Given the description of an element on the screen output the (x, y) to click on. 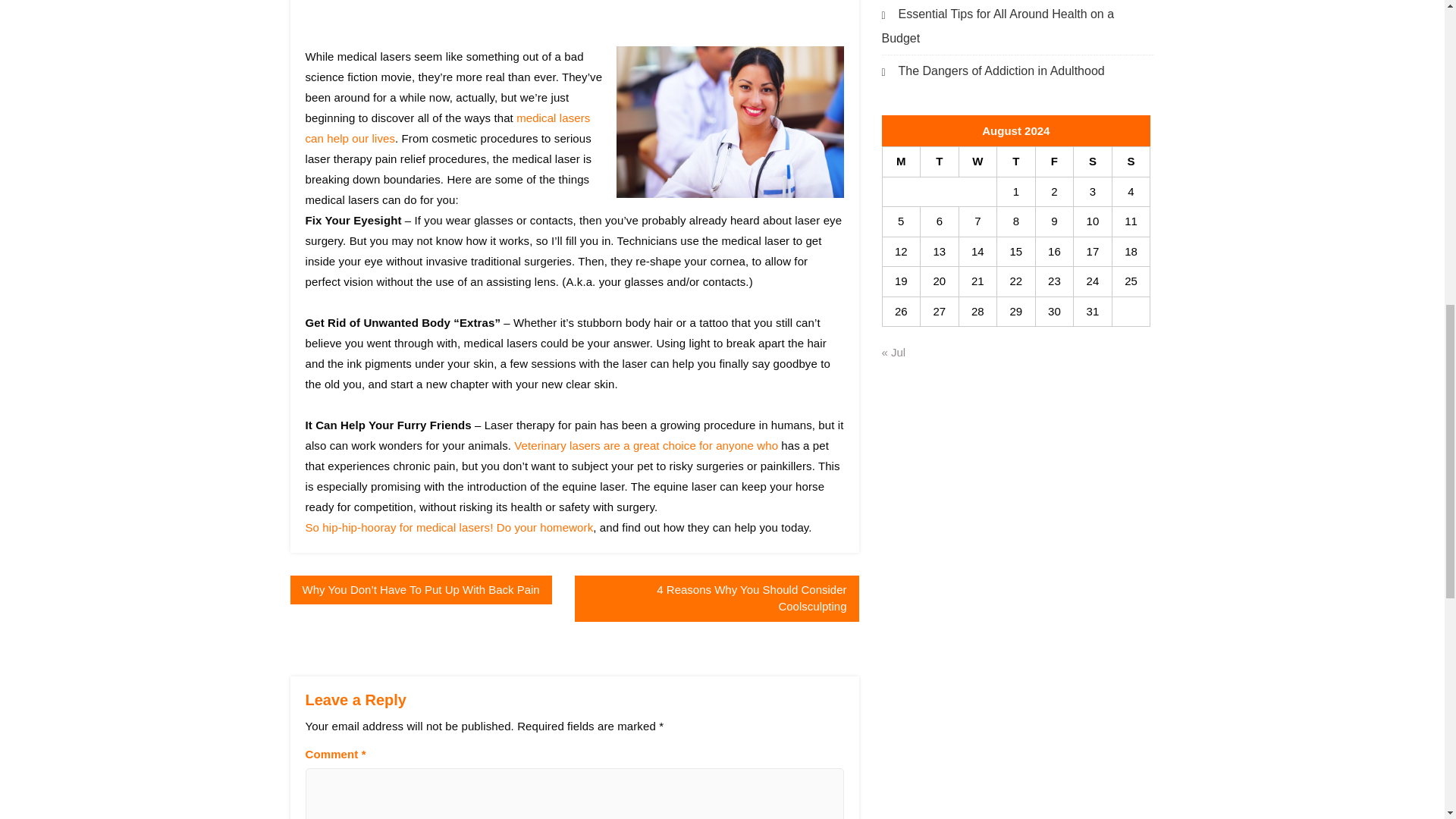
Monday (901, 162)
So hip-hip-hooray for medical lasers! Do your homework (448, 526)
More stuff (645, 445)
Essential Tips for All Around Health on a Budget (996, 26)
Wednesday (977, 162)
4 Reasons Why You Should Consider Coolsculpting (717, 598)
Friday (1054, 162)
Thursday (1016, 162)
The Dangers of Addiction in Adulthood (991, 69)
Find more information regarding Veterinary laser therapy (448, 526)
